Given the description of an element on the screen output the (x, y) to click on. 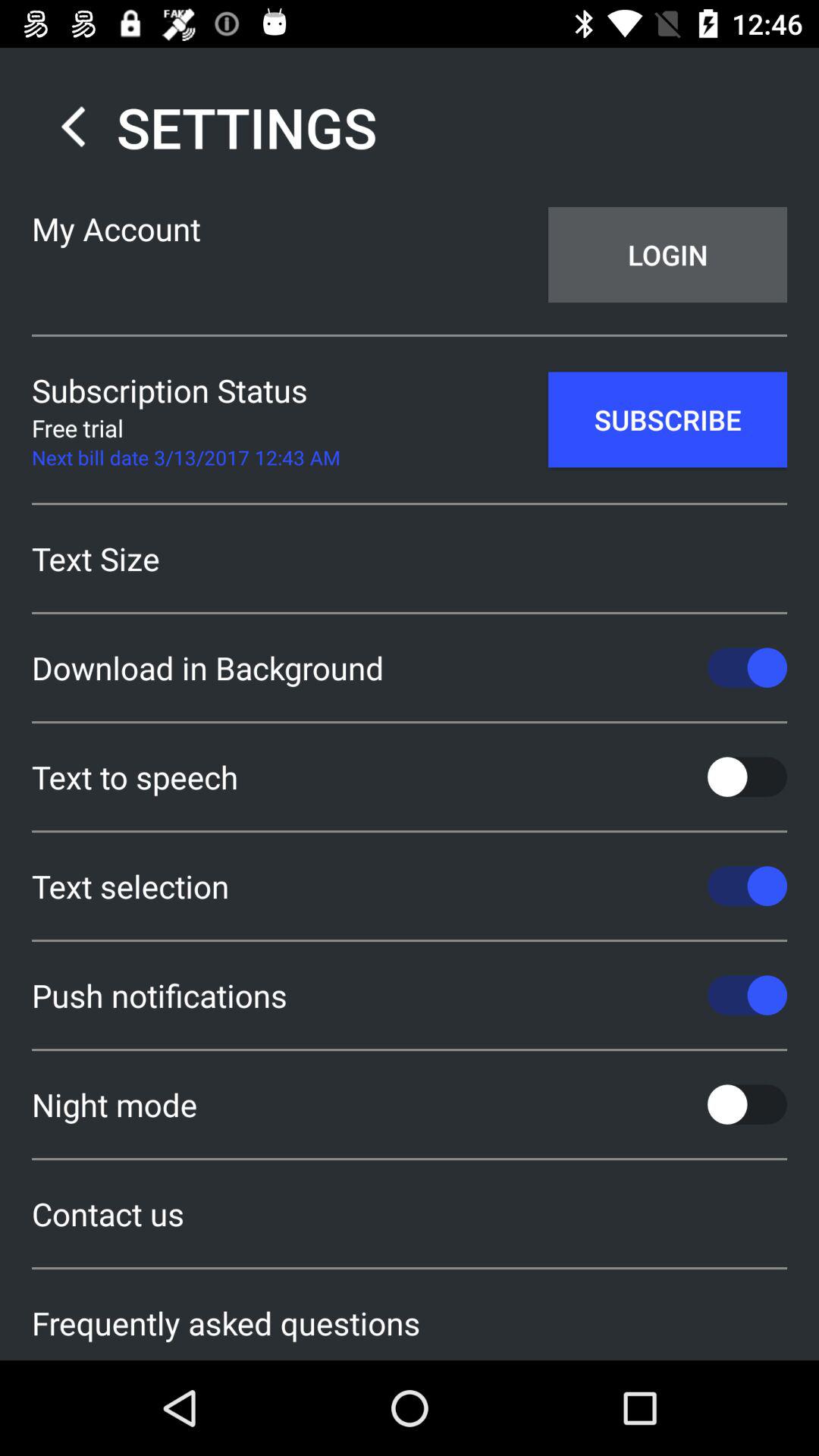
swipe until download in background item (409, 667)
